Given the description of an element on the screen output the (x, y) to click on. 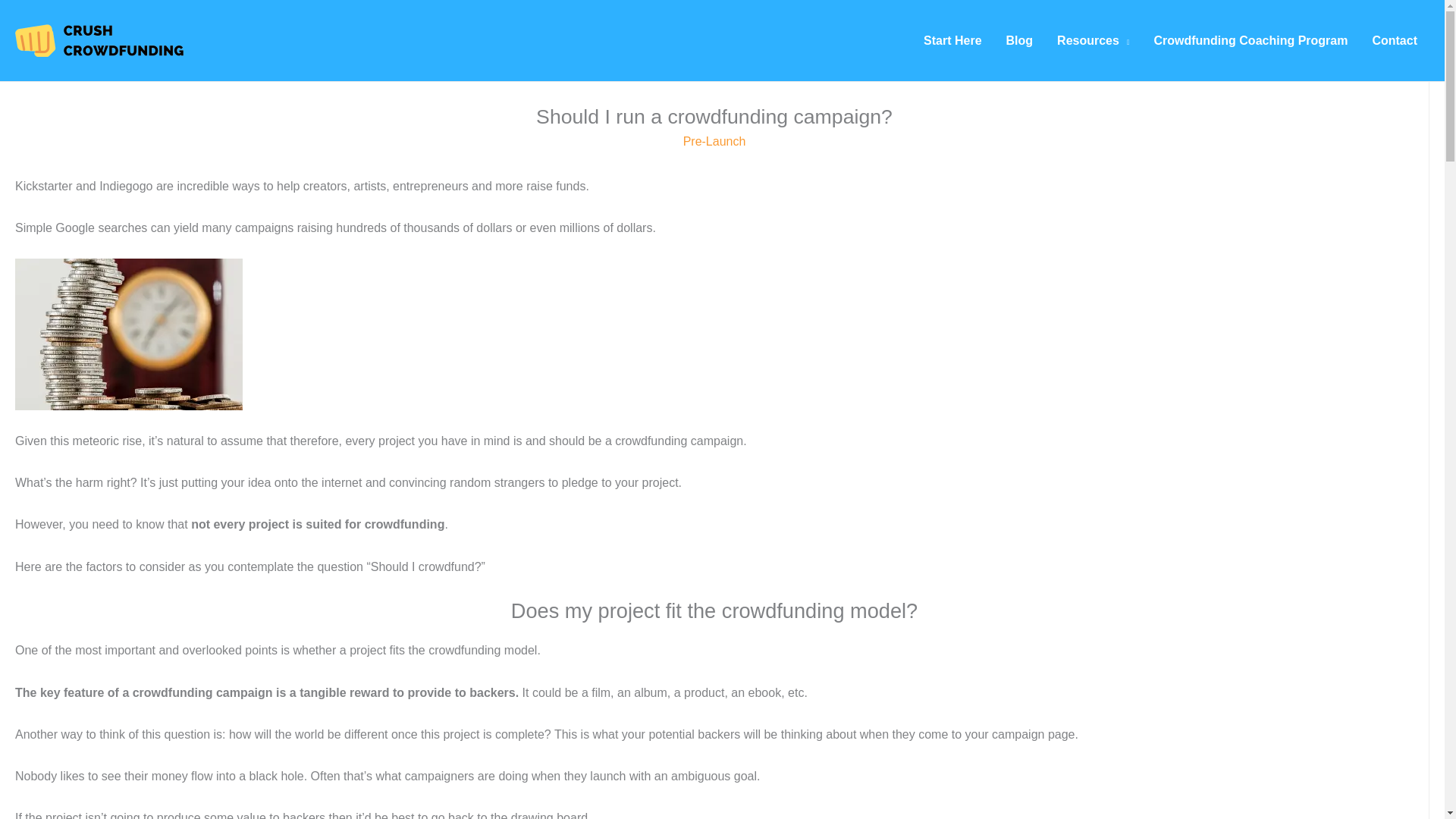
Start Here (951, 40)
Blog (1019, 40)
Pre-Launch (713, 141)
Resources (1093, 40)
Crowdfunding Coaching Program (1250, 40)
Contact (1394, 40)
